Given the description of an element on the screen output the (x, y) to click on. 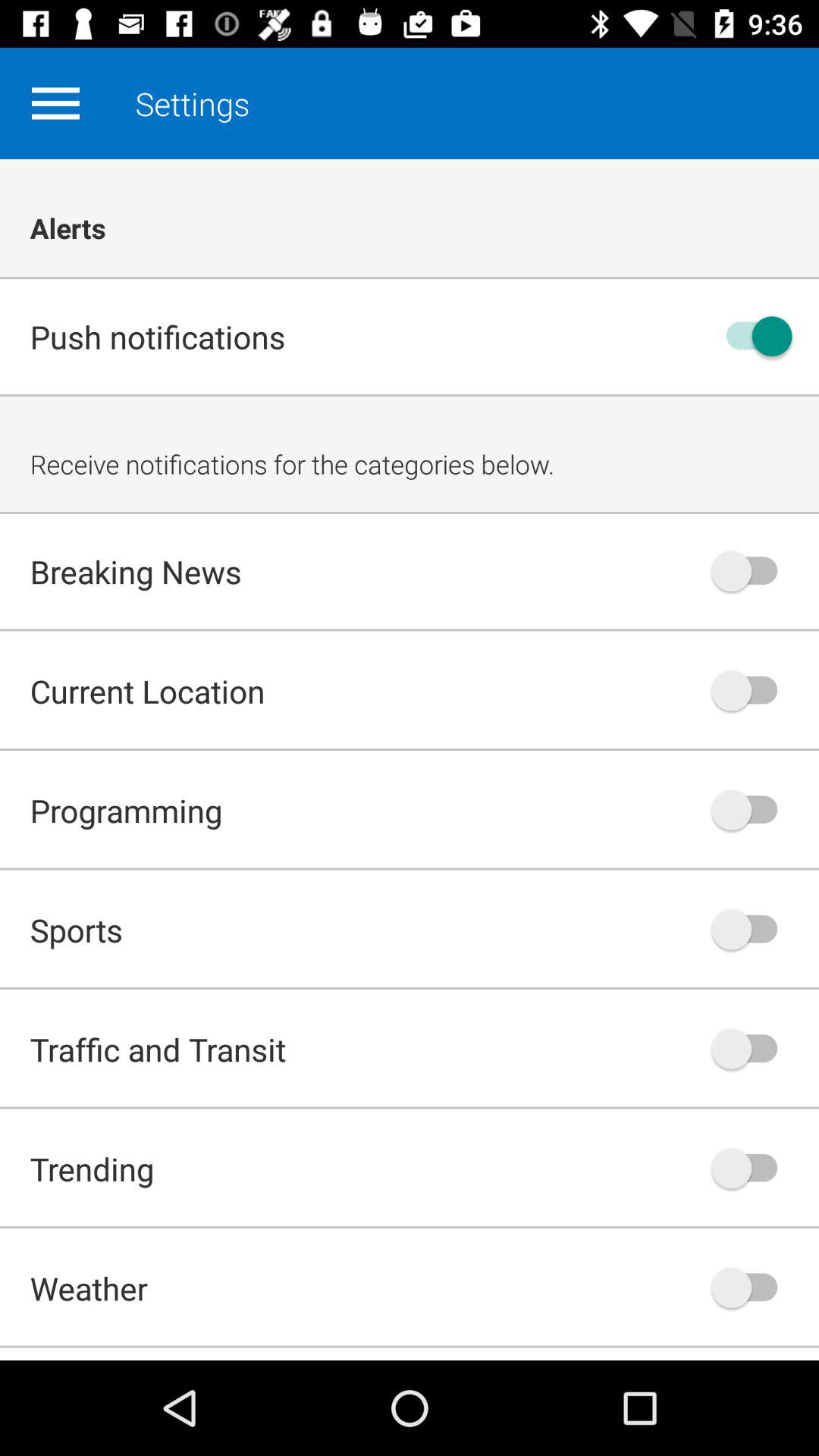
turn on (751, 336)
